Given the description of an element on the screen output the (x, y) to click on. 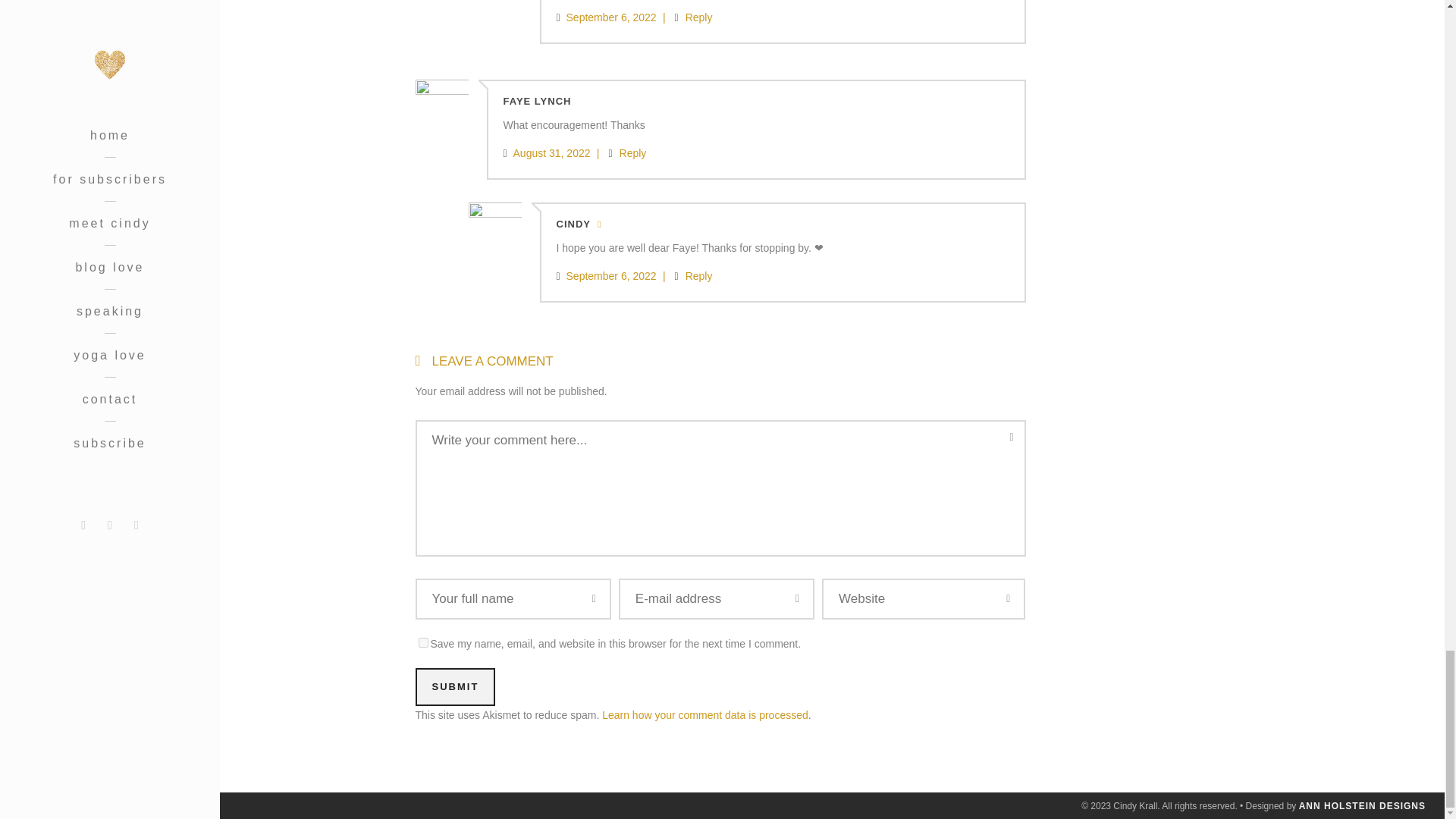
Learn how your comment data is processed (705, 715)
Reply (699, 275)
Reply (699, 17)
yes (423, 642)
Submit (455, 686)
Submit (455, 686)
Reply (633, 152)
Ann Holstein Designs (1361, 805)
